Given the description of an element on the screen output the (x, y) to click on. 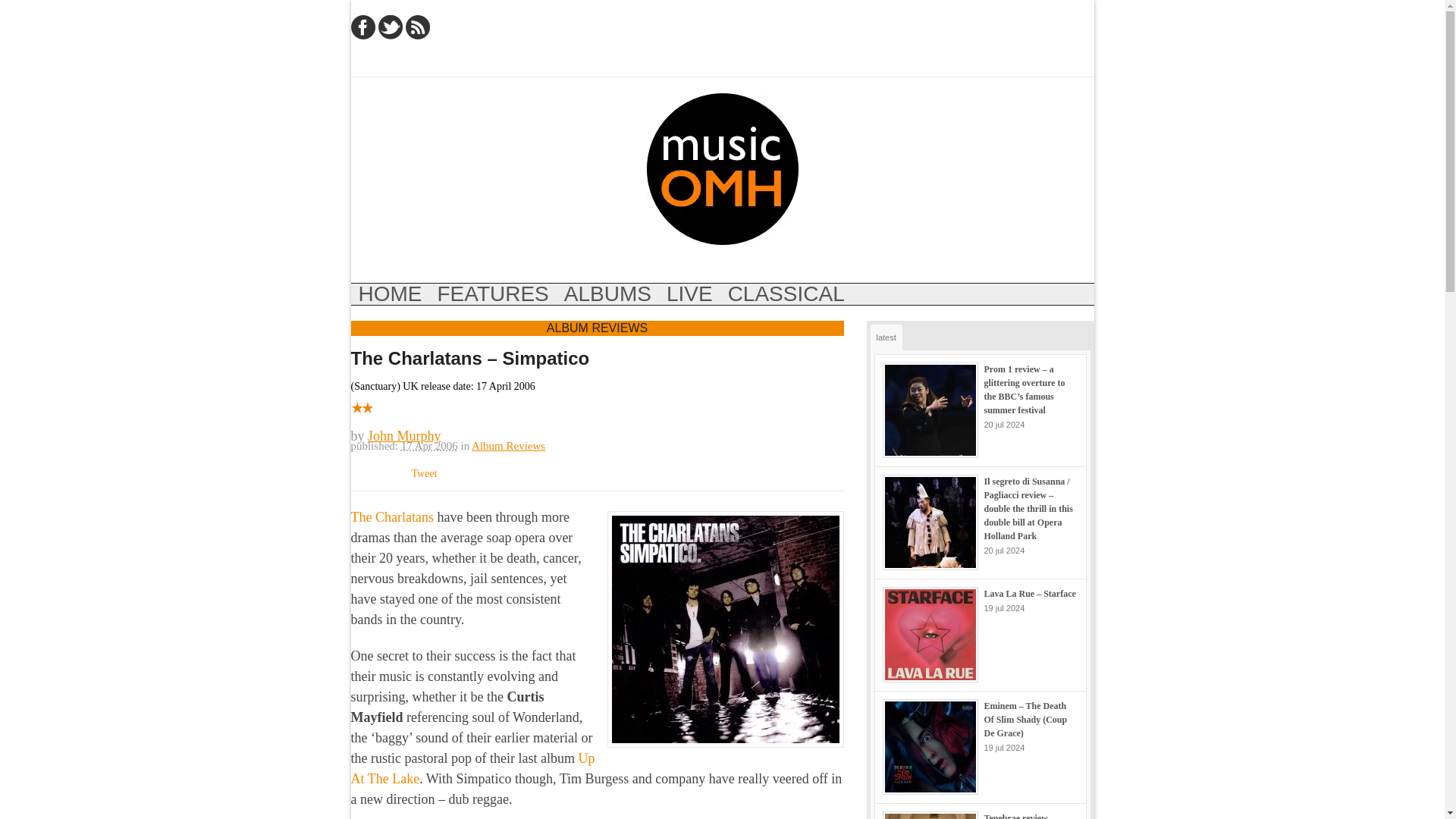
Twitter (389, 27)
ALBUMS (607, 293)
Album Reviews (507, 445)
Home (389, 293)
HOME (389, 293)
Facebook (362, 27)
Tweet (423, 472)
John Murphy (404, 435)
latest (886, 337)
Up At The Lake (472, 768)
features and interviews (492, 293)
album reviews (607, 293)
music reviews, interviews and features (721, 168)
FEATURES (492, 293)
opera reviews, classical music reviews (785, 293)
